Given the description of an element on the screen output the (x, y) to click on. 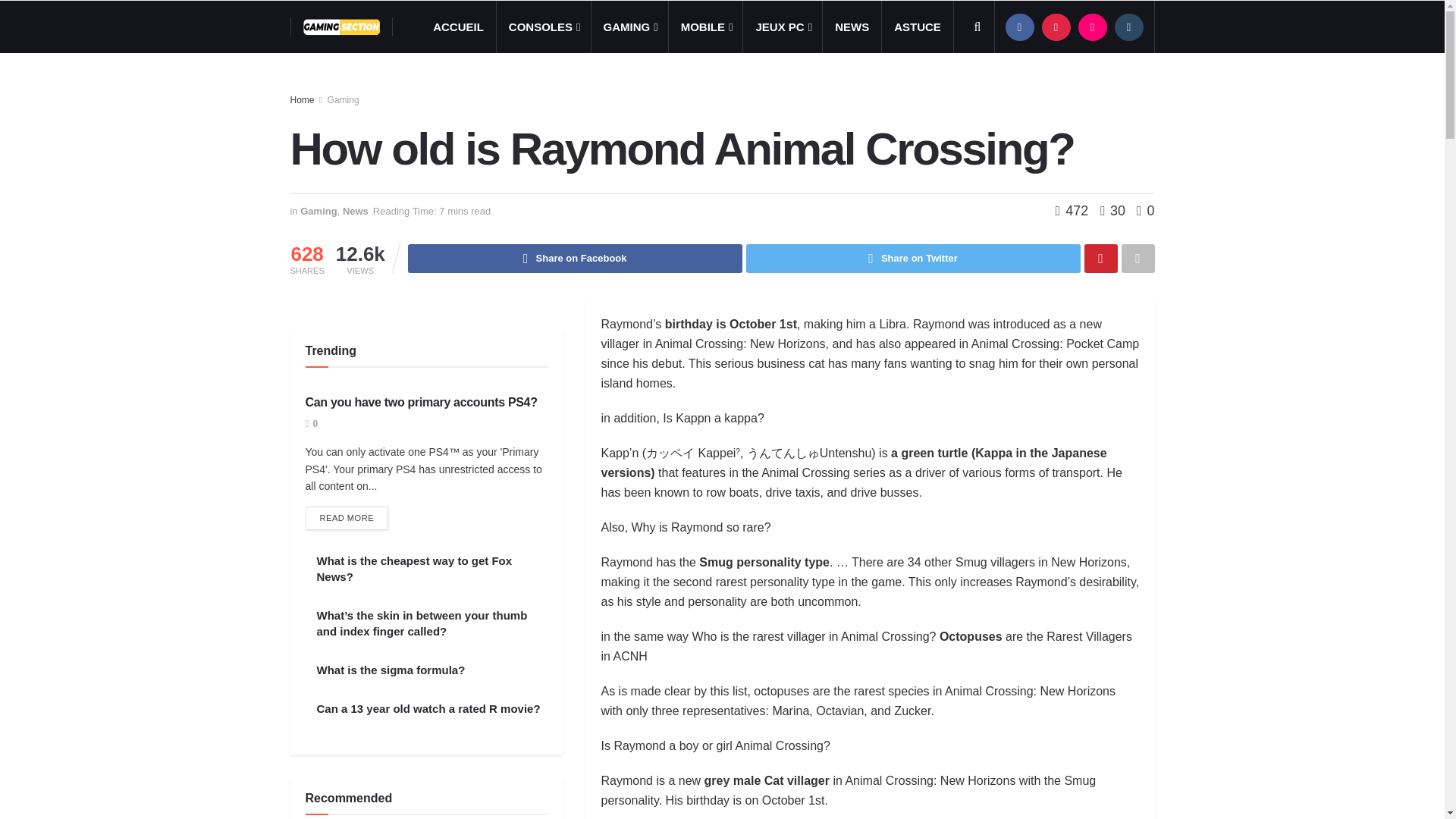
GAMING (629, 26)
JEUX PC (782, 26)
CONSOLES (543, 26)
ACCUEIL (458, 26)
MOBILE (705, 26)
ASTUCE (917, 26)
NEWS (851, 26)
